Given the description of an element on the screen output the (x, y) to click on. 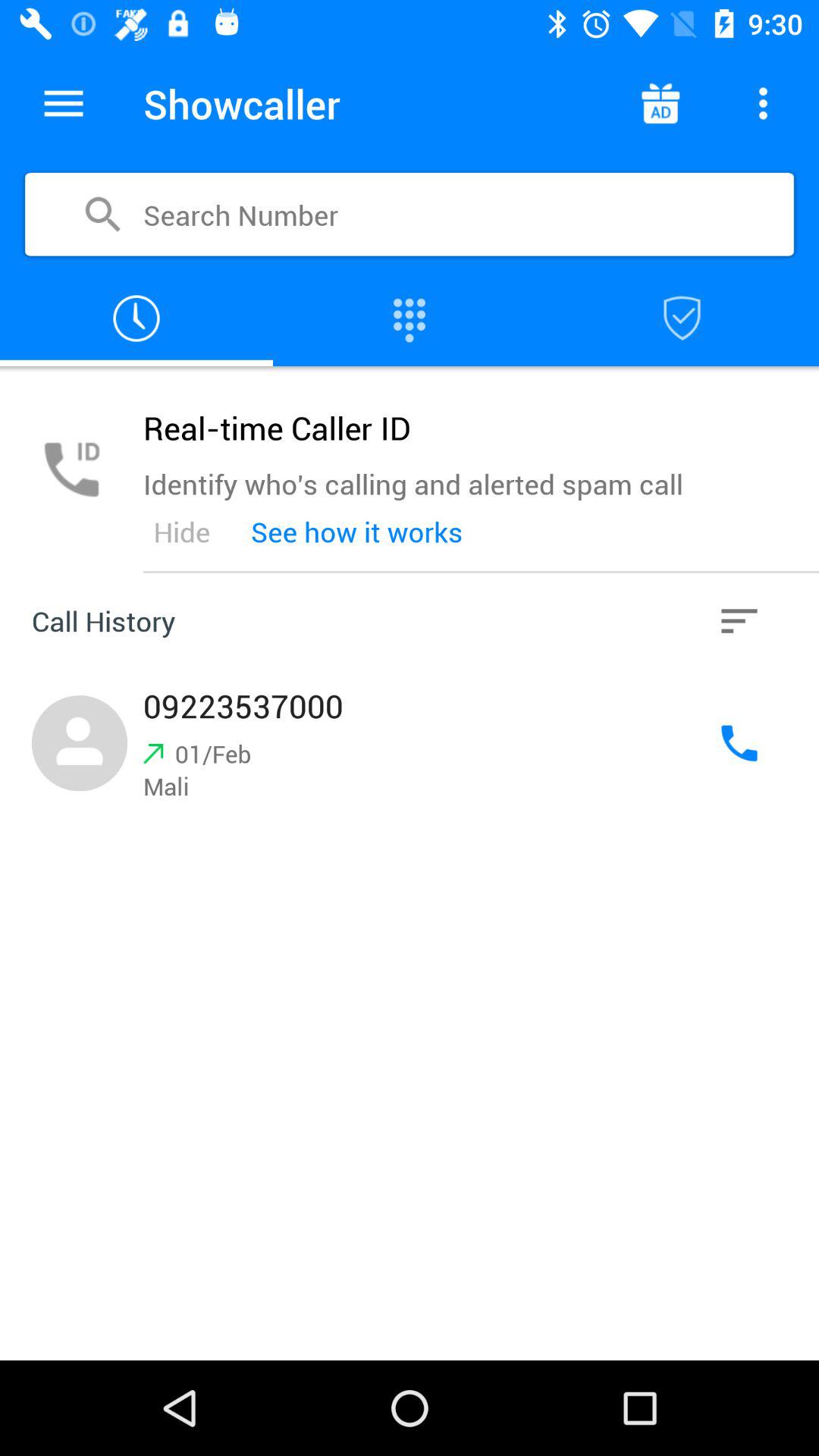
see more options (763, 103)
